Given the description of an element on the screen output the (x, y) to click on. 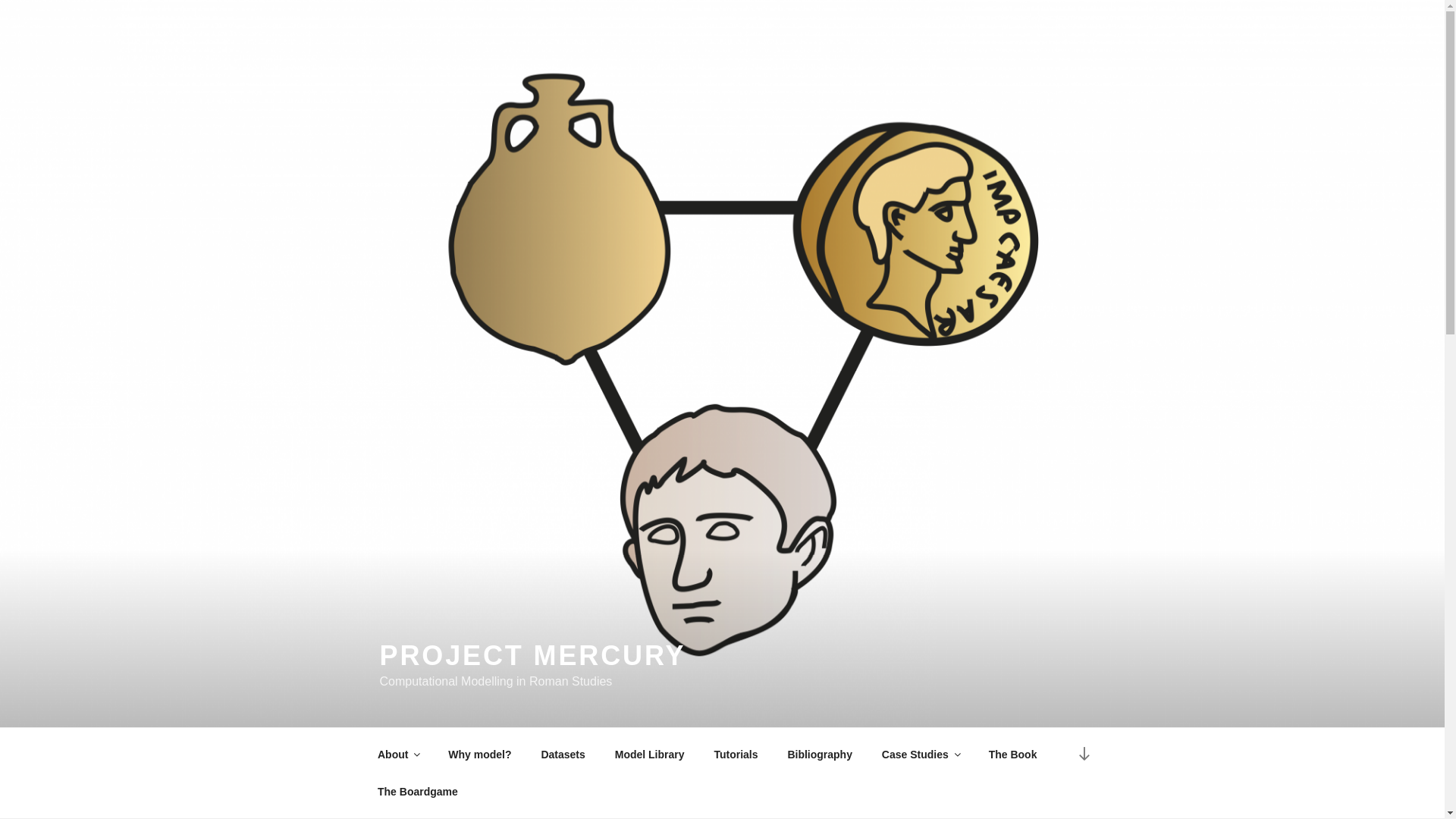
Model Library (649, 754)
Case Studies (919, 754)
Scroll down to content (1082, 754)
Bibliography (820, 754)
Datasets (562, 754)
Tutorials (735, 754)
Why model? (479, 754)
The Book (1012, 754)
About (397, 754)
The Boardgame (417, 791)
